Given the description of an element on the screen output the (x, y) to click on. 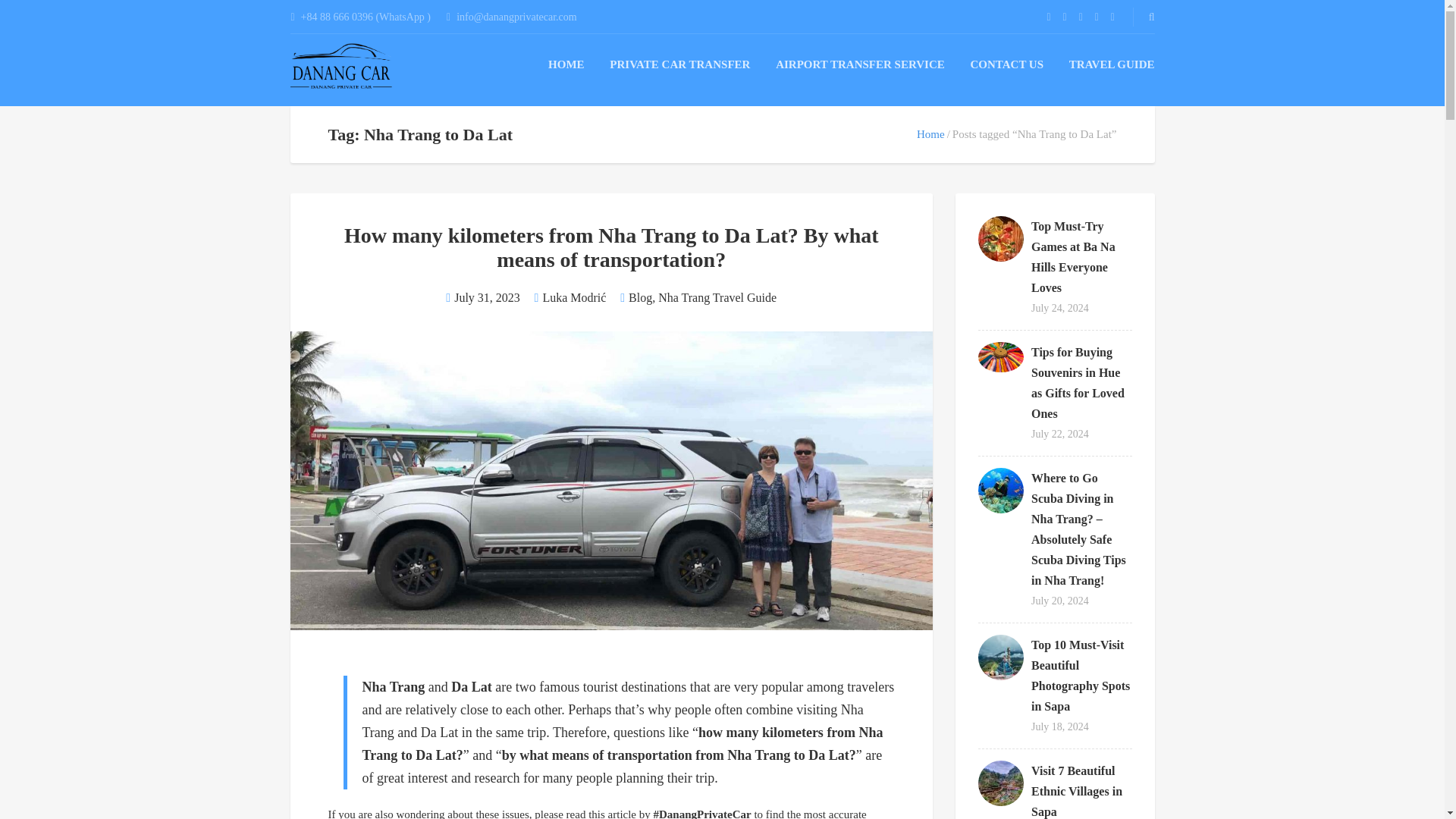
Transport (341, 66)
